Given the description of an element on the screen output the (x, y) to click on. 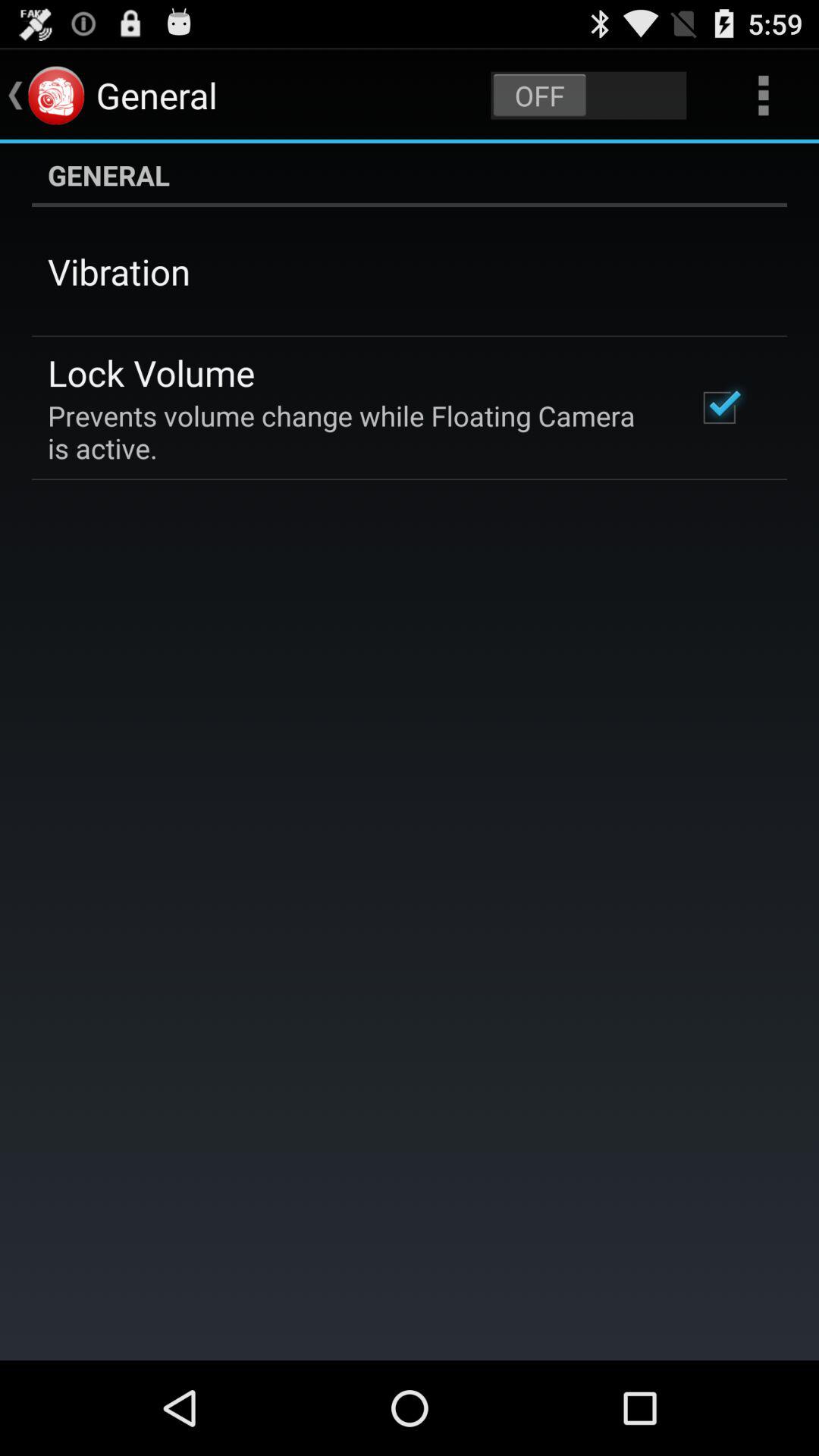
click the app to the right of the general app (588, 95)
